Given the description of an element on the screen output the (x, y) to click on. 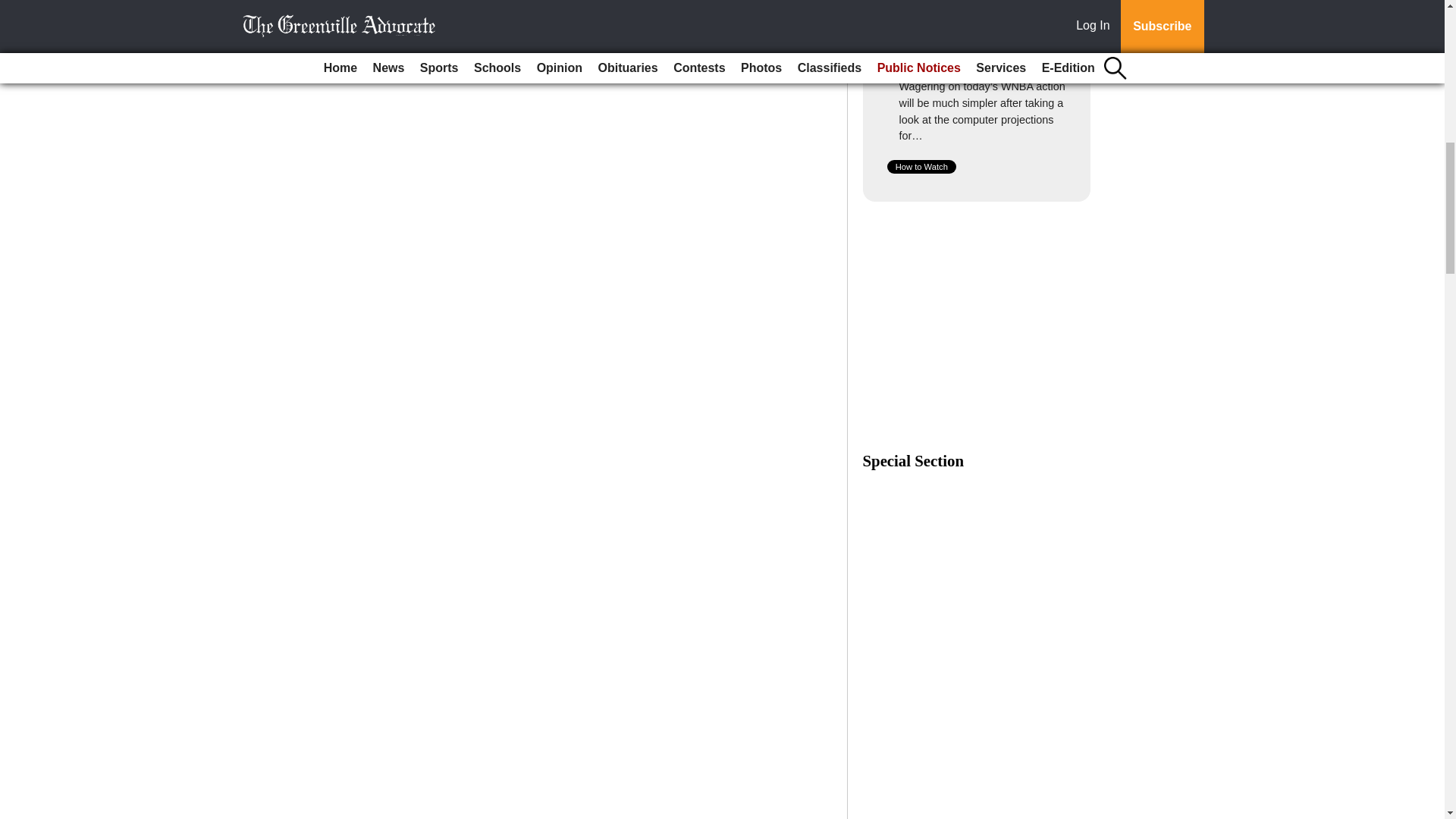
Trinity Audio Player (592, 754)
